Given the description of an element on the screen output the (x, y) to click on. 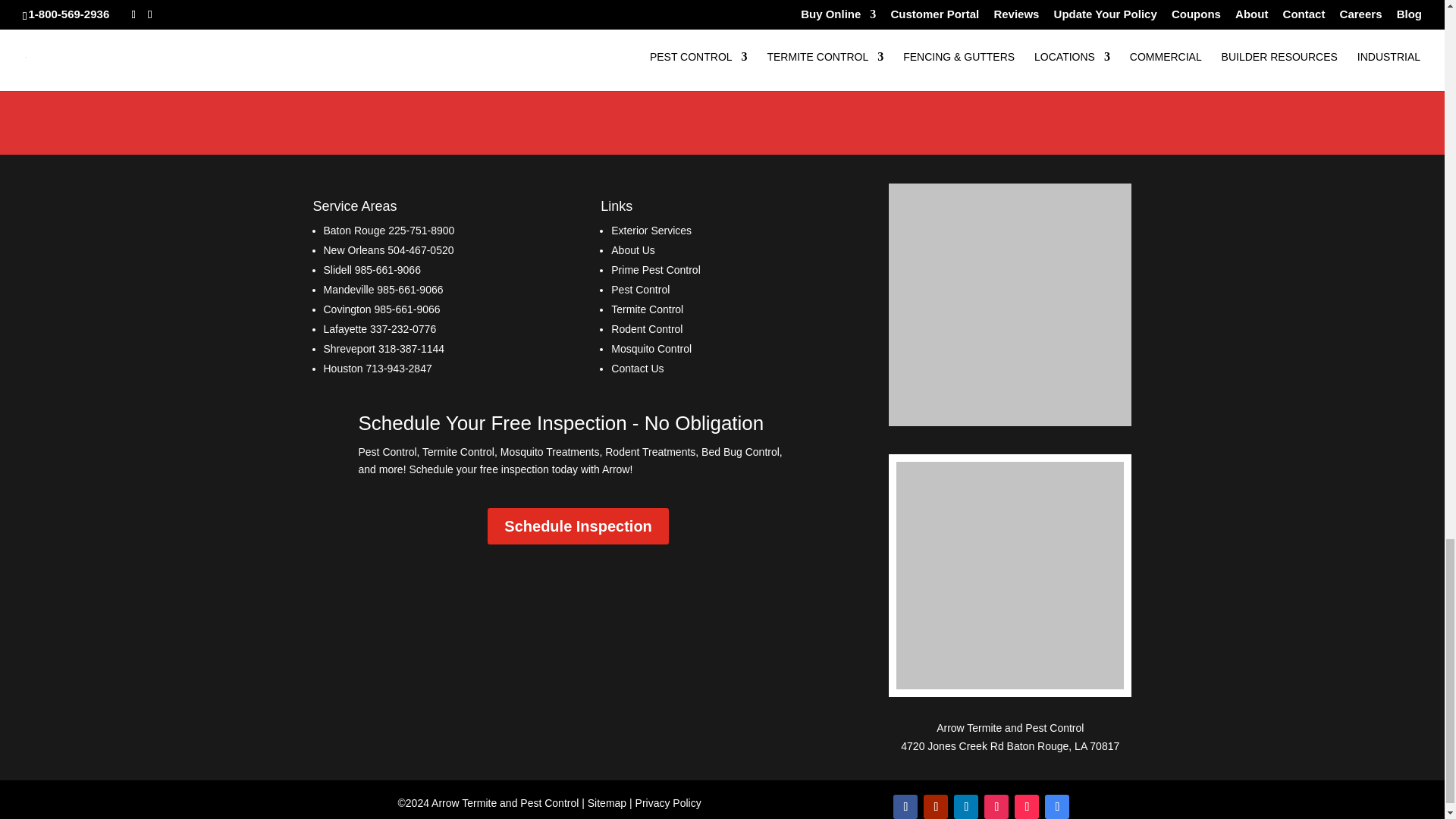
Arrow Termite and Pest Control Family Owned Logo (1010, 575)
Baton Rouge Pest Control Company (354, 230)
Follow on Youtube (935, 806)
Follow on Google (1056, 806)
Follow on Facebook (905, 806)
Follow on Instagram (996, 806)
Follow on TikTok (1026, 806)
Follow on LinkedIn (965, 806)
Pest Control Baton Rouge (1010, 746)
